Given the description of an element on the screen output the (x, y) to click on. 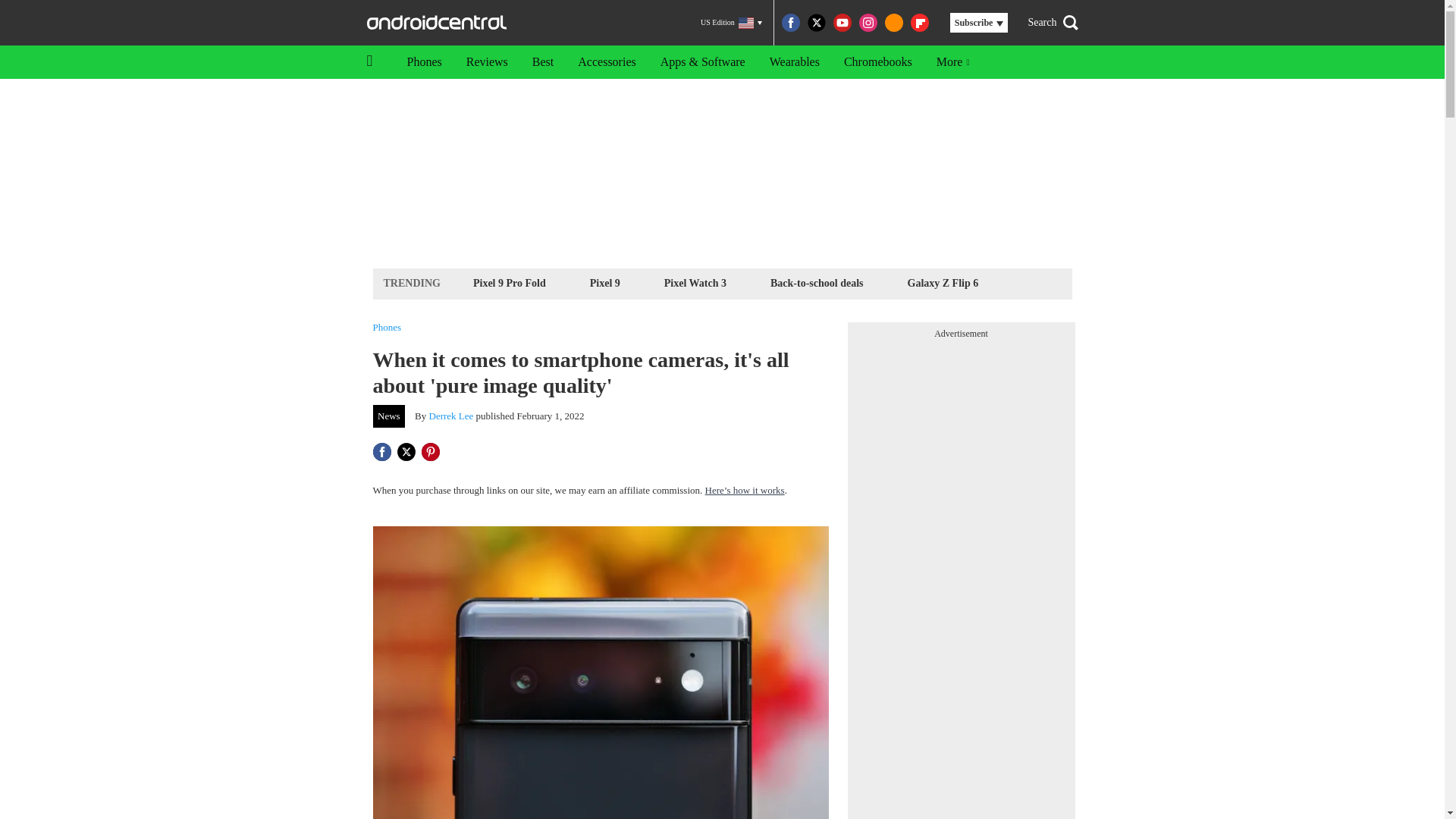
Phones (423, 61)
Galaxy Z Flip 6 (943, 282)
Pixel 9 Pro Fold (509, 282)
Chromebooks (877, 61)
Phones (386, 327)
Back-to-school deals (817, 282)
Reviews (486, 61)
Pixel Watch 3 (695, 282)
Wearables (794, 61)
Best (542, 61)
